Given the description of an element on the screen output the (x, y) to click on. 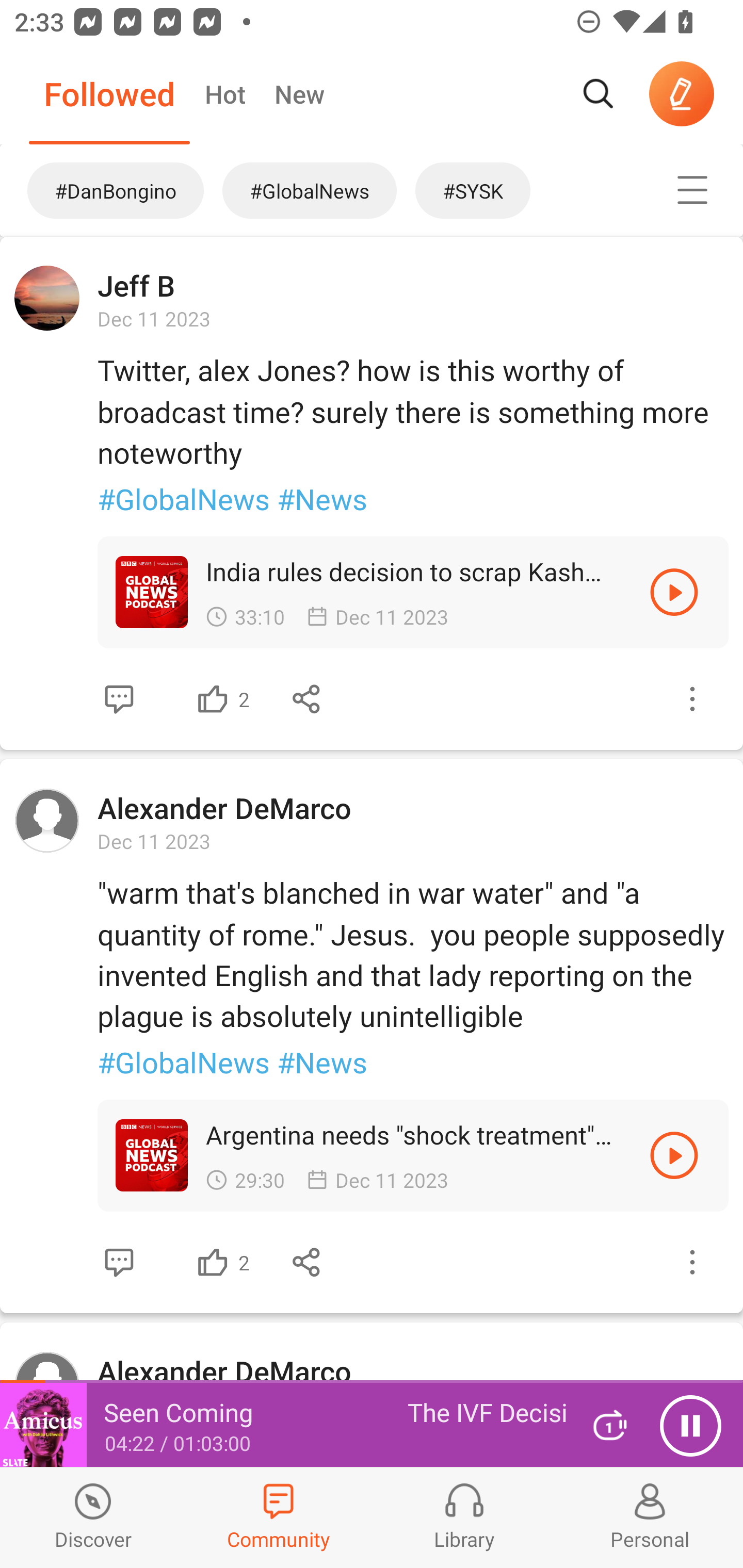
Followed (109, 93)
Hot (224, 93)
New (298, 93)
#DanBongino (106, 190)
#GlobalNews (309, 190)
#SYSK (518, 190)
 (692, 190)
 (673, 591)
 (119, 699)
 (212, 699)
 (307, 699)
 (692, 699)
 (673, 1154)
 (119, 1262)
 (212, 1262)
 (307, 1262)
 (692, 1262)
Pause (690, 1425)
Discover (92, 1517)
Community (278, 1517)
Library (464, 1517)
Profiles and Settings Personal (650, 1517)
